Given the description of an element on the screen output the (x, y) to click on. 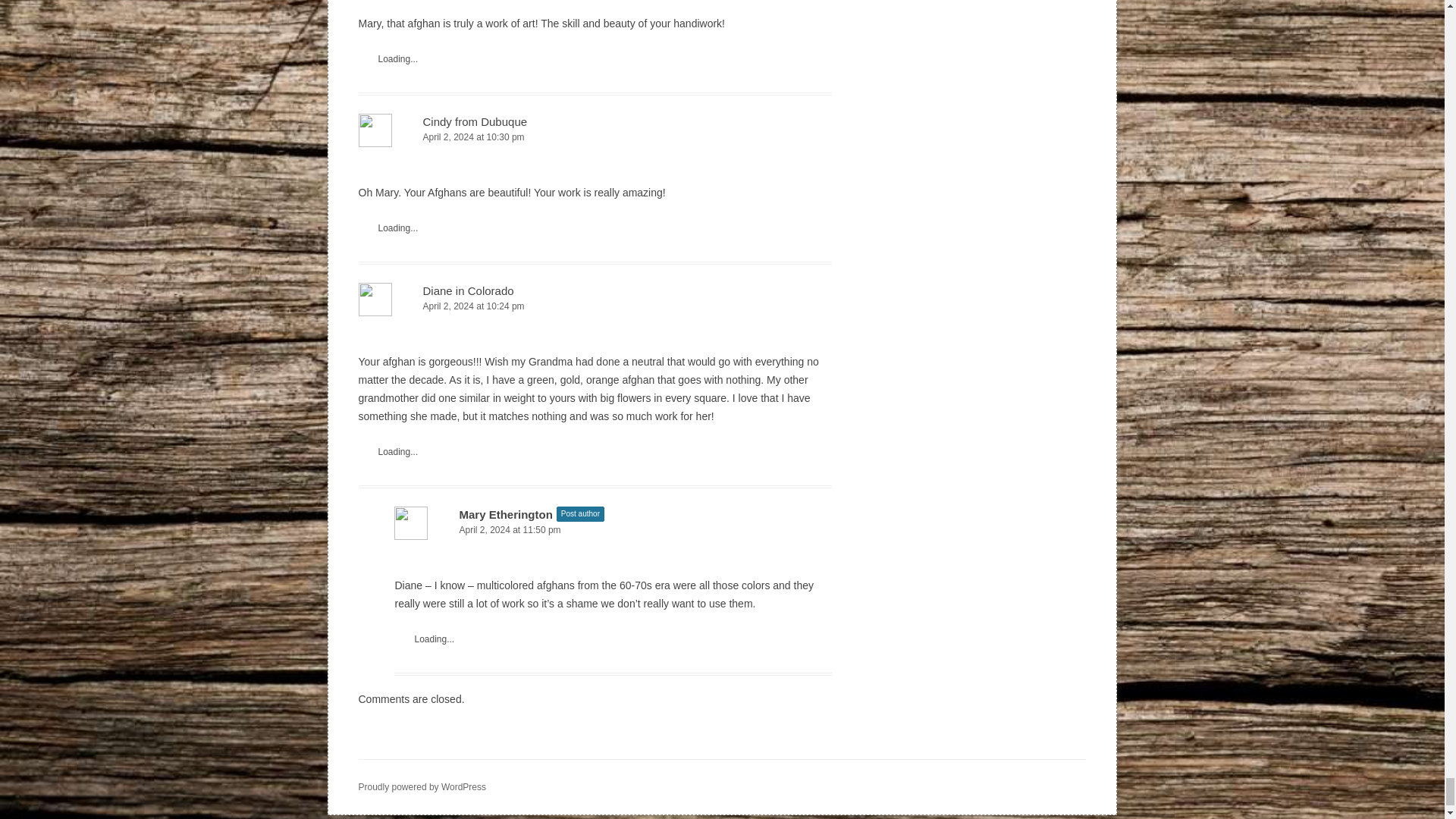
Semantic Personal Publishing Platform (422, 787)
